Given the description of an element on the screen output the (x, y) to click on. 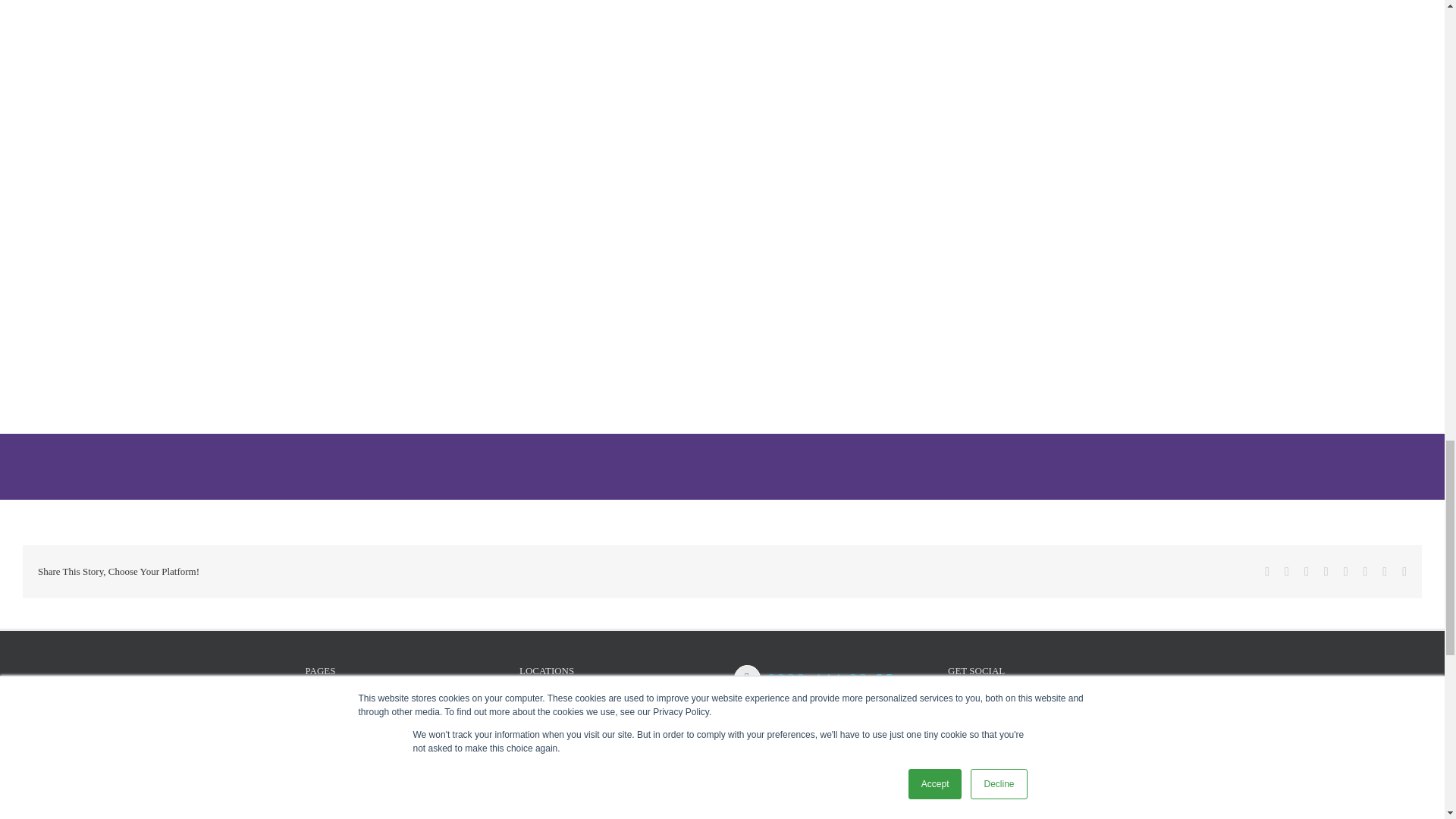
Highgrove floorplan (722, 10)
